Given the description of an element on the screen output the (x, y) to click on. 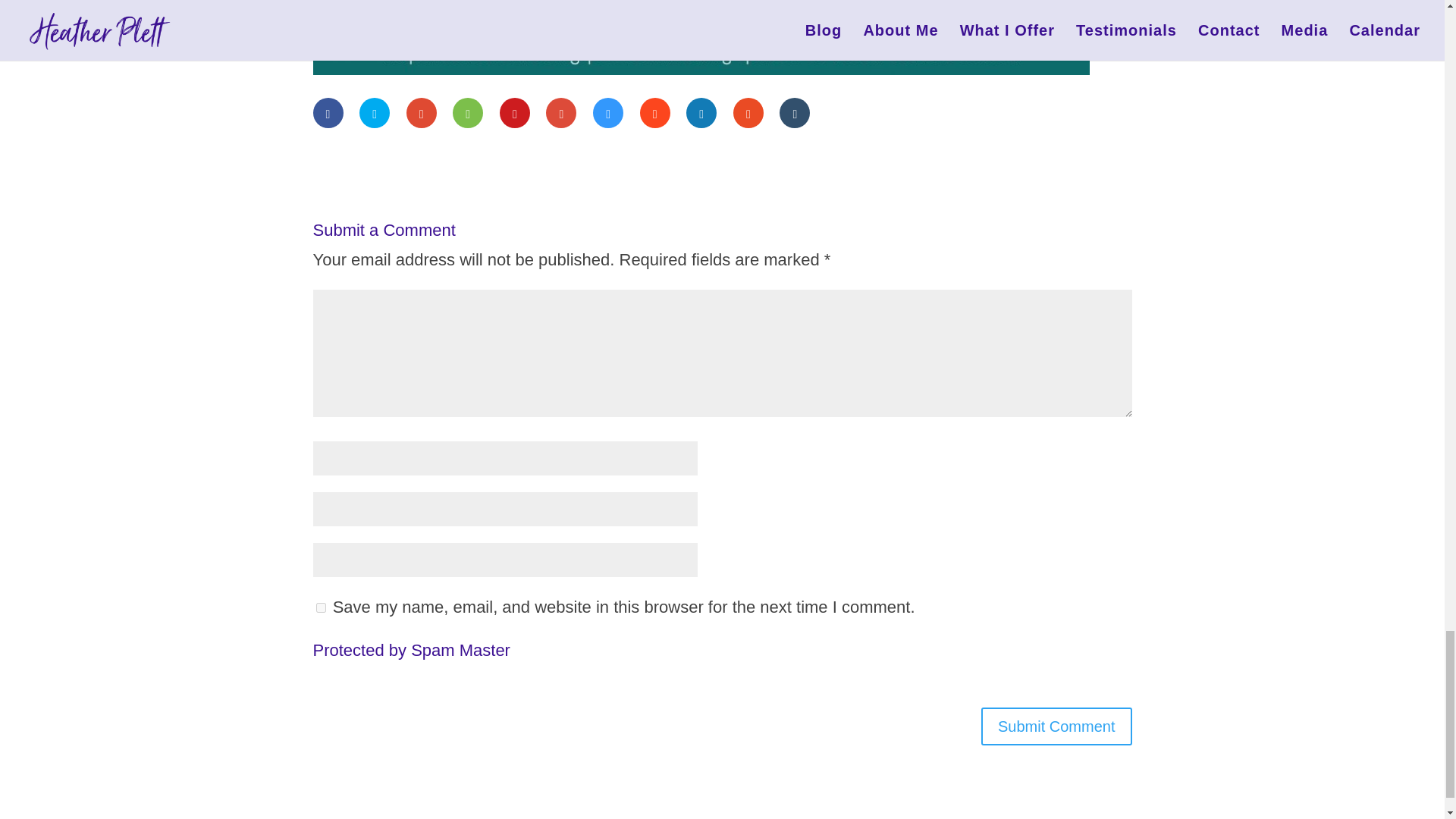
Protected by Spam Master (411, 650)
Submit Comment (1056, 726)
yes (319, 607)
